Given the description of an element on the screen output the (x, y) to click on. 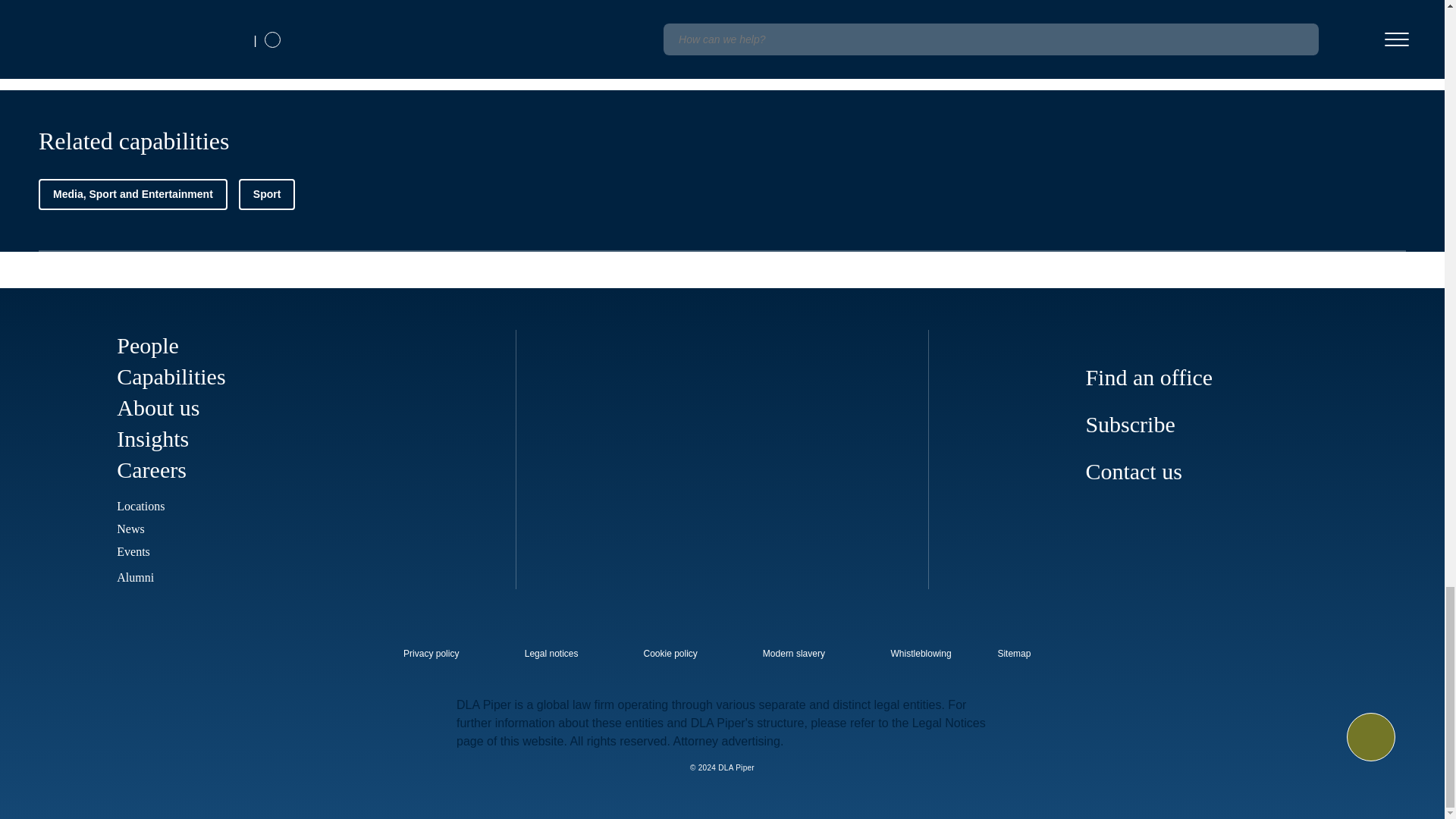
Locations (140, 505)
People (147, 344)
internal (920, 653)
internal (430, 653)
Insights (152, 438)
Capabilities (170, 376)
Sport (266, 194)
About us (157, 407)
internal (793, 653)
Careers (162, 469)
external (1024, 649)
internal (670, 653)
internal (549, 653)
Media, Sport and Entertainment (133, 194)
